Given the description of an element on the screen output the (x, y) to click on. 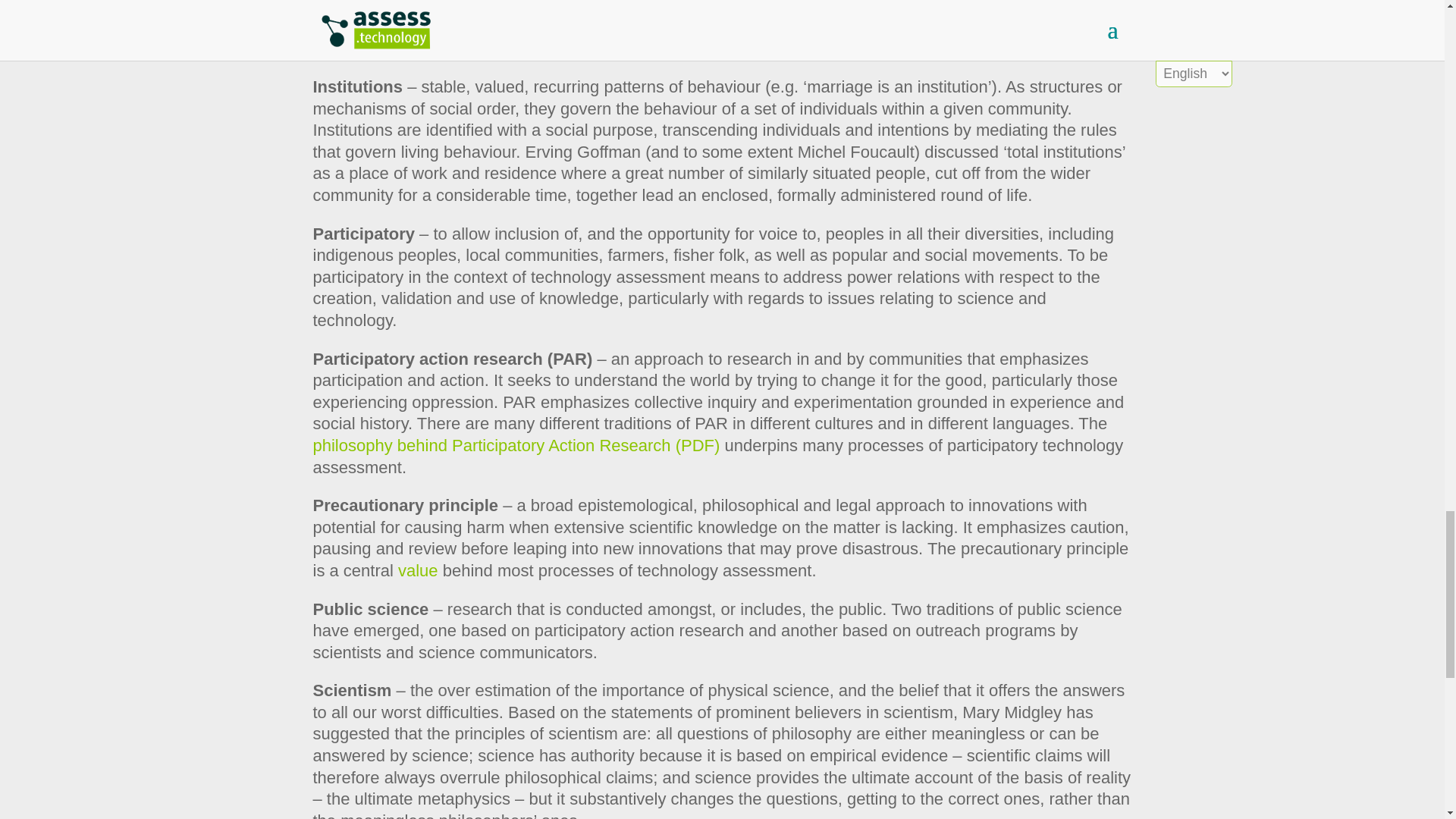
value (417, 570)
